Given the description of an element on the screen output the (x, y) to click on. 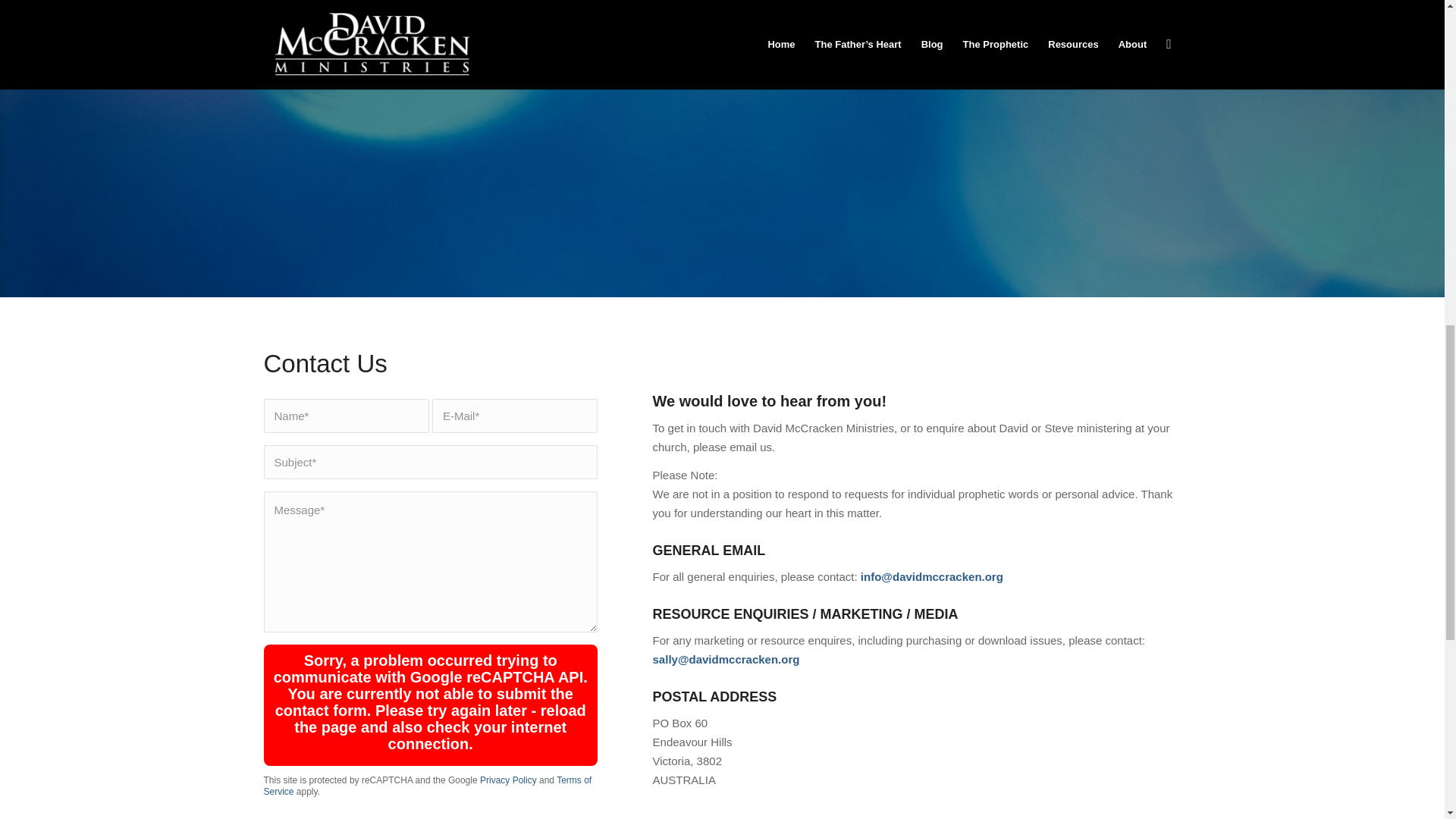
Submit (921, 130)
Privacy Policy (508, 779)
Terms of Service (427, 785)
